Given the description of an element on the screen output the (x, y) to click on. 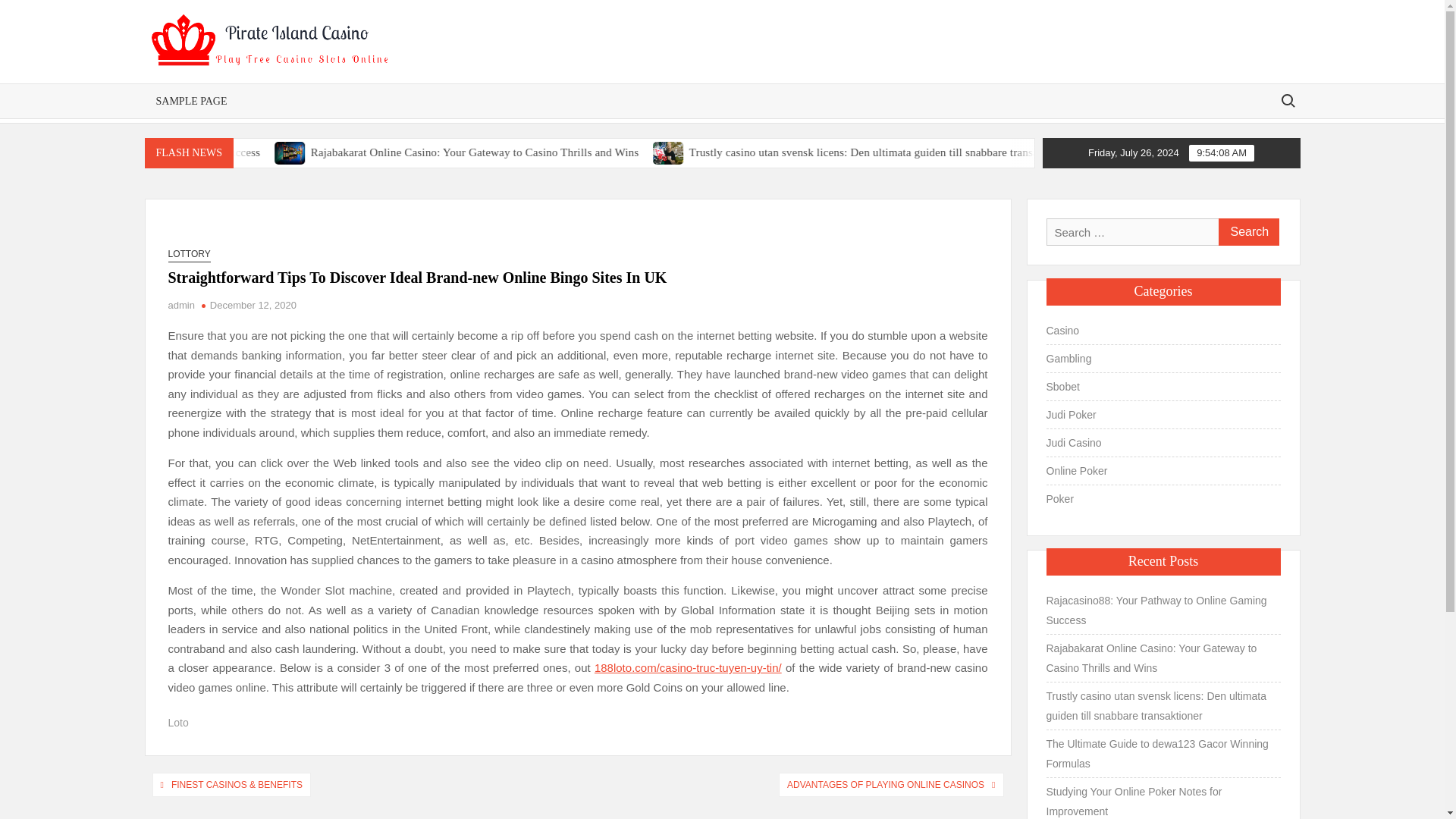
Search (1247, 231)
Search for: (1287, 100)
SAMPLE PAGE (191, 100)
Casino (1063, 330)
LOTTORY (189, 254)
Loto (178, 722)
PIRATE ISLAND CASINO (463, 98)
Search (1247, 231)
Rajacasino88: Your Pathway to Online Gaming Success (286, 152)
December 12, 2020 (253, 305)
ADVANTAGES OF PLAYING ONLINE CASINOS (884, 784)
Rajacasino88: Your Pathway to Online Gaming Success (235, 152)
